Given the description of an element on the screen output the (x, y) to click on. 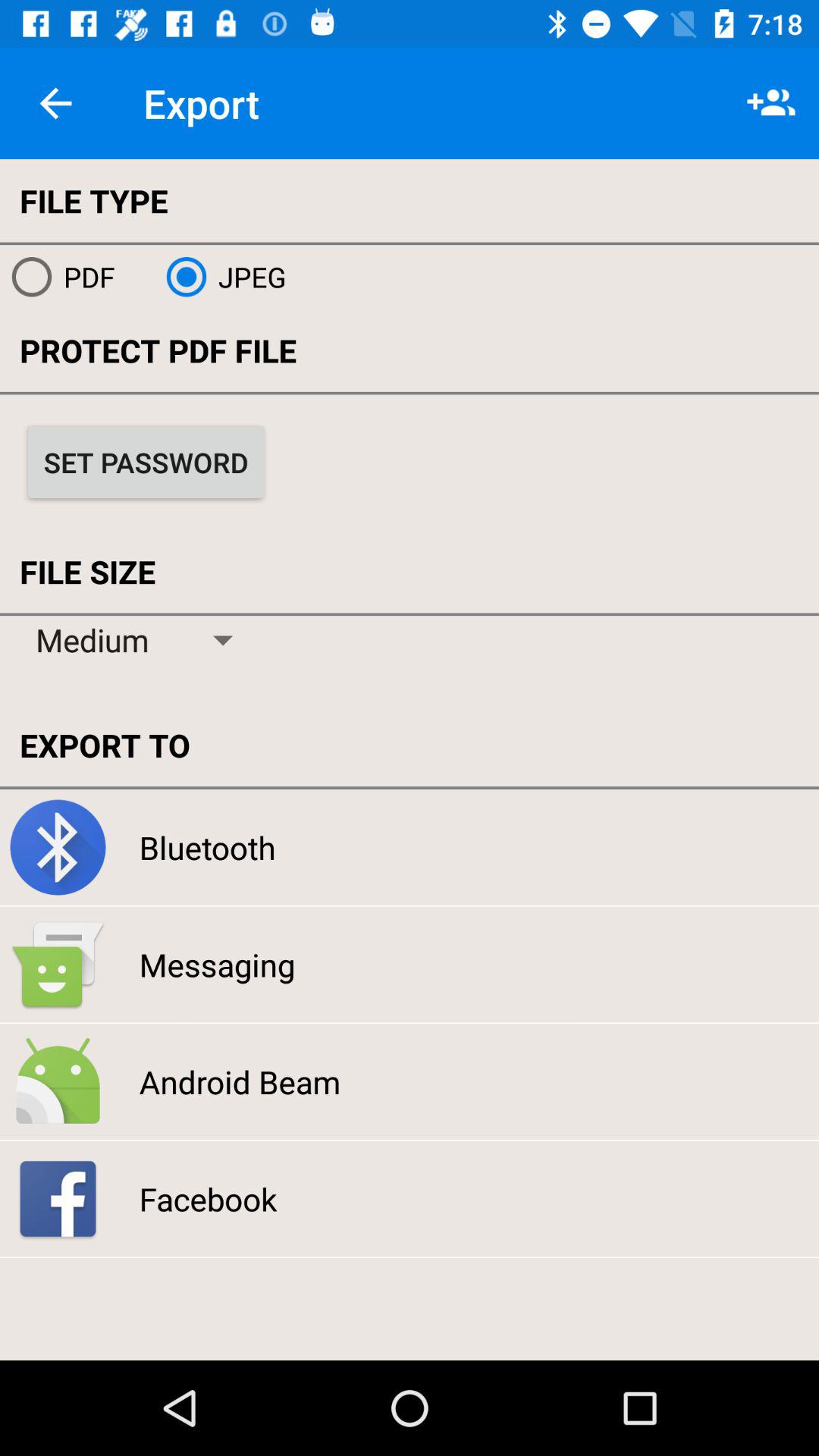
launch bluetooth (207, 847)
